Given the description of an element on the screen output the (x, y) to click on. 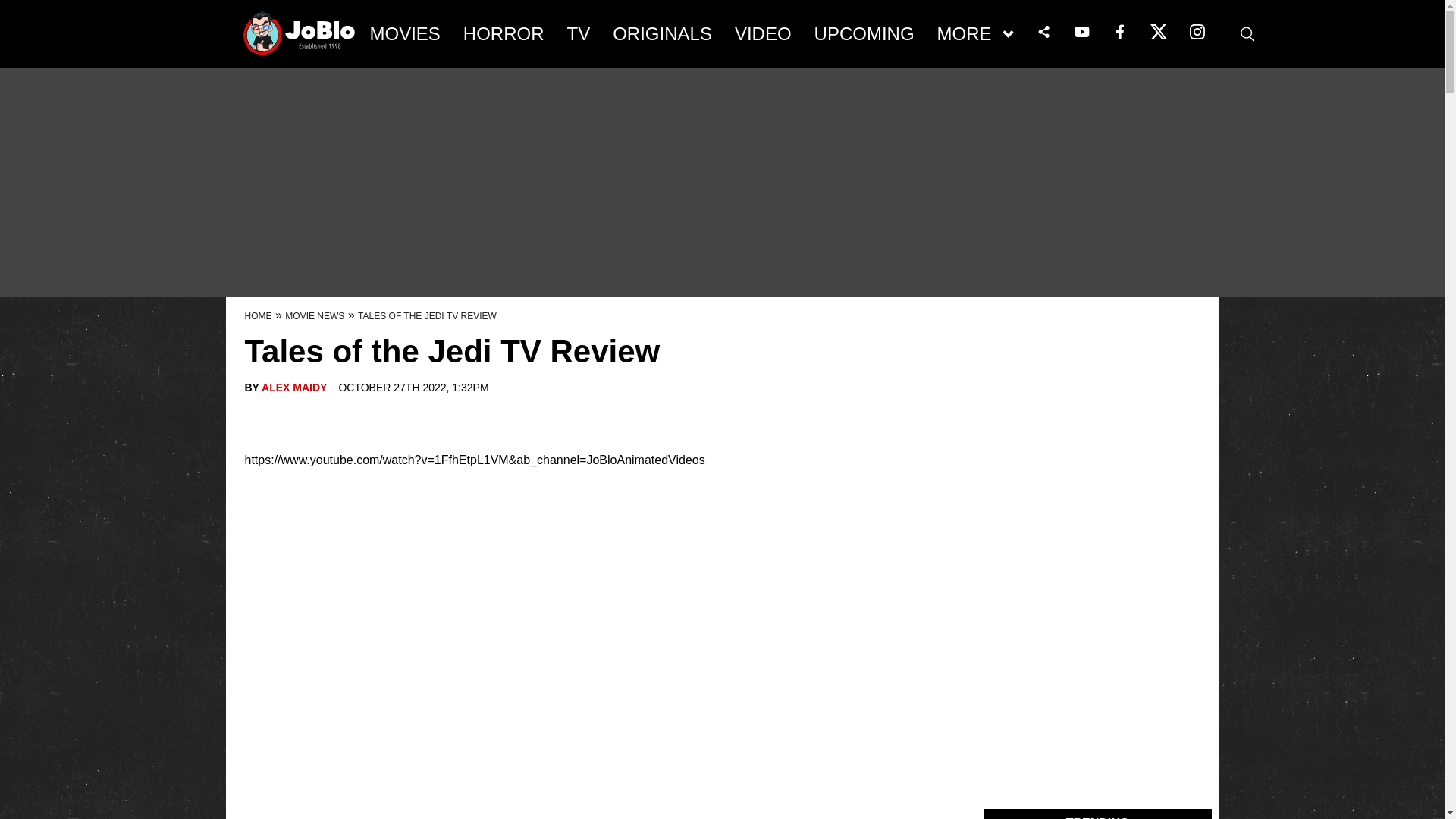
Go (13, 7)
MORE (976, 34)
UPCOMING (863, 34)
VIDEO (762, 34)
HORROR (503, 34)
TV (578, 34)
MOVIES (405, 34)
JoBlo Logo (299, 38)
ORIGINALS (662, 34)
